Given the description of an element on the screen output the (x, y) to click on. 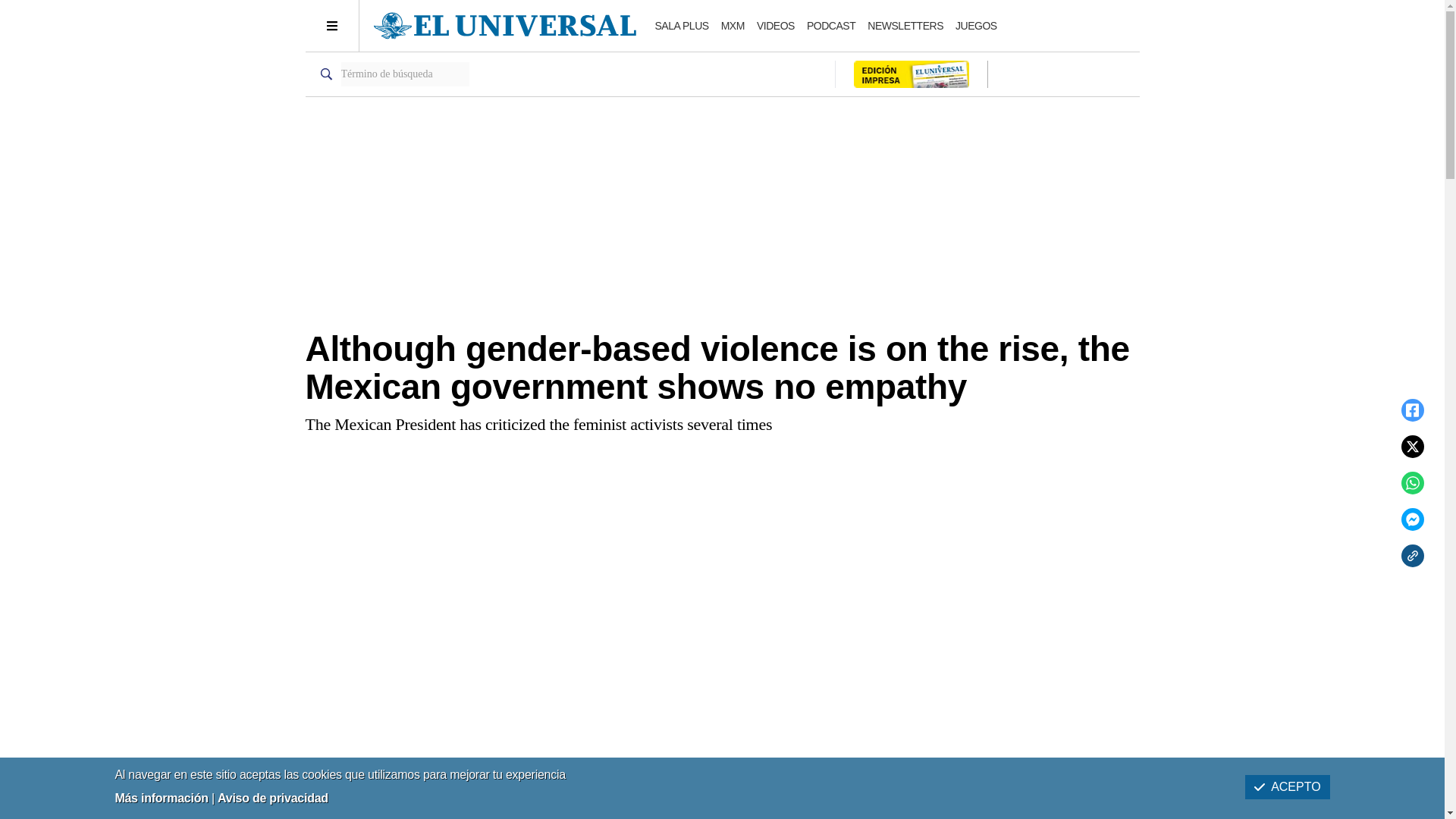
SALA PLUS (682, 25)
Compartir en facebook (1411, 409)
VIDEOS (775, 25)
MXM (732, 25)
JUEGOS (976, 25)
NEWSLETTERS (905, 25)
PODCAST (831, 25)
Compartir en WhatsApp (1411, 482)
Compartir en X (1411, 445)
Compartir en Messenger (1411, 518)
